Given the description of an element on the screen output the (x, y) to click on. 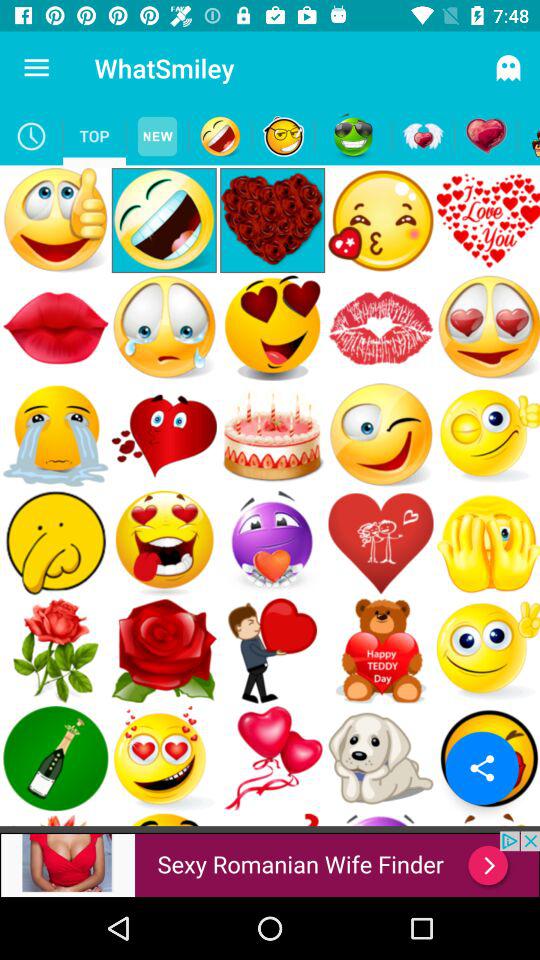
select emoji (283, 136)
